Given the description of an element on the screen output the (x, y) to click on. 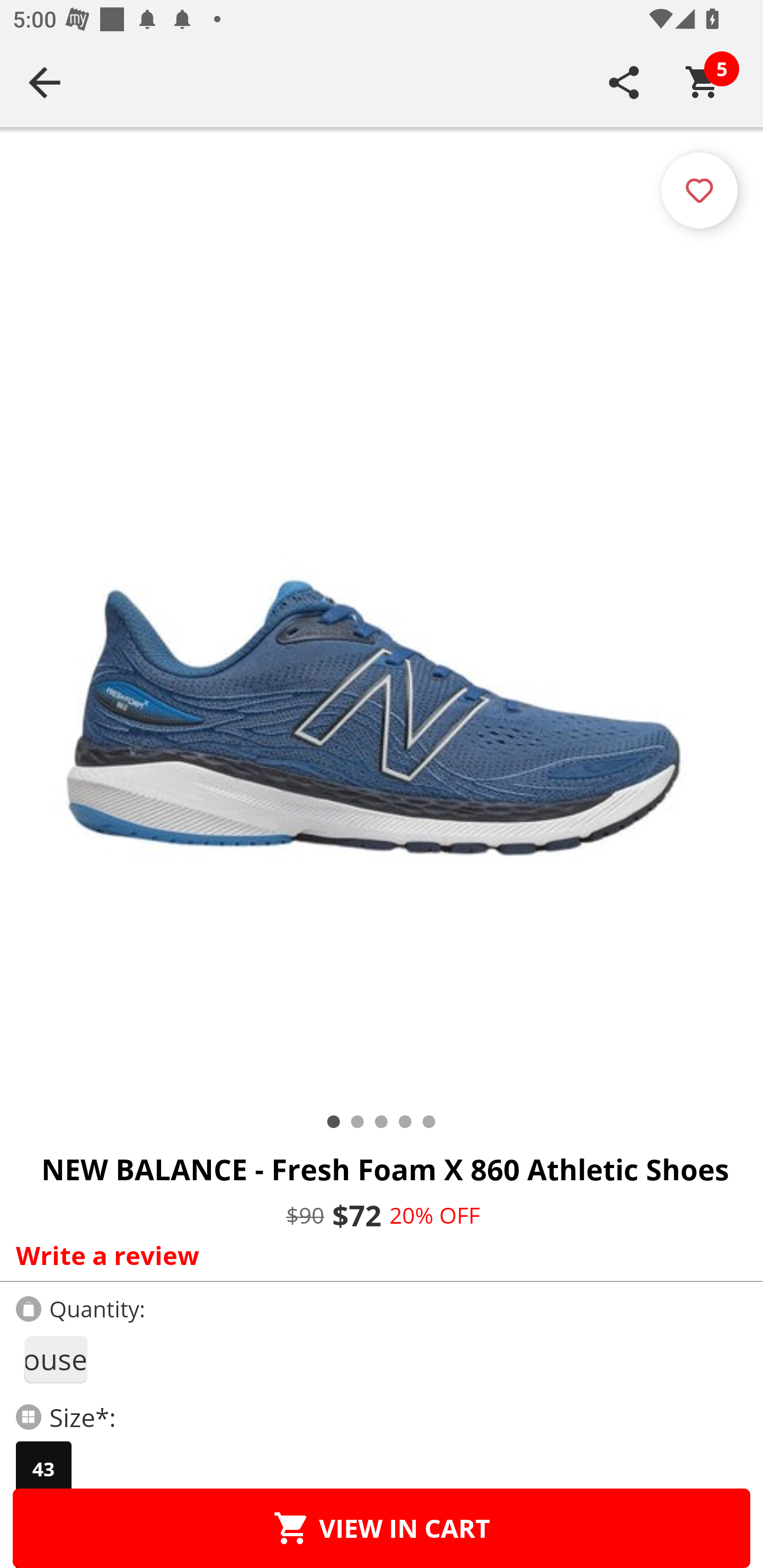
Navigate up (44, 82)
SHARE (623, 82)
Cart (703, 81)
Write a review (377, 1255)
1mouse (55, 1358)
43 (43, 1468)
VIEW IN CART (381, 1528)
